Given the description of an element on the screen output the (x, y) to click on. 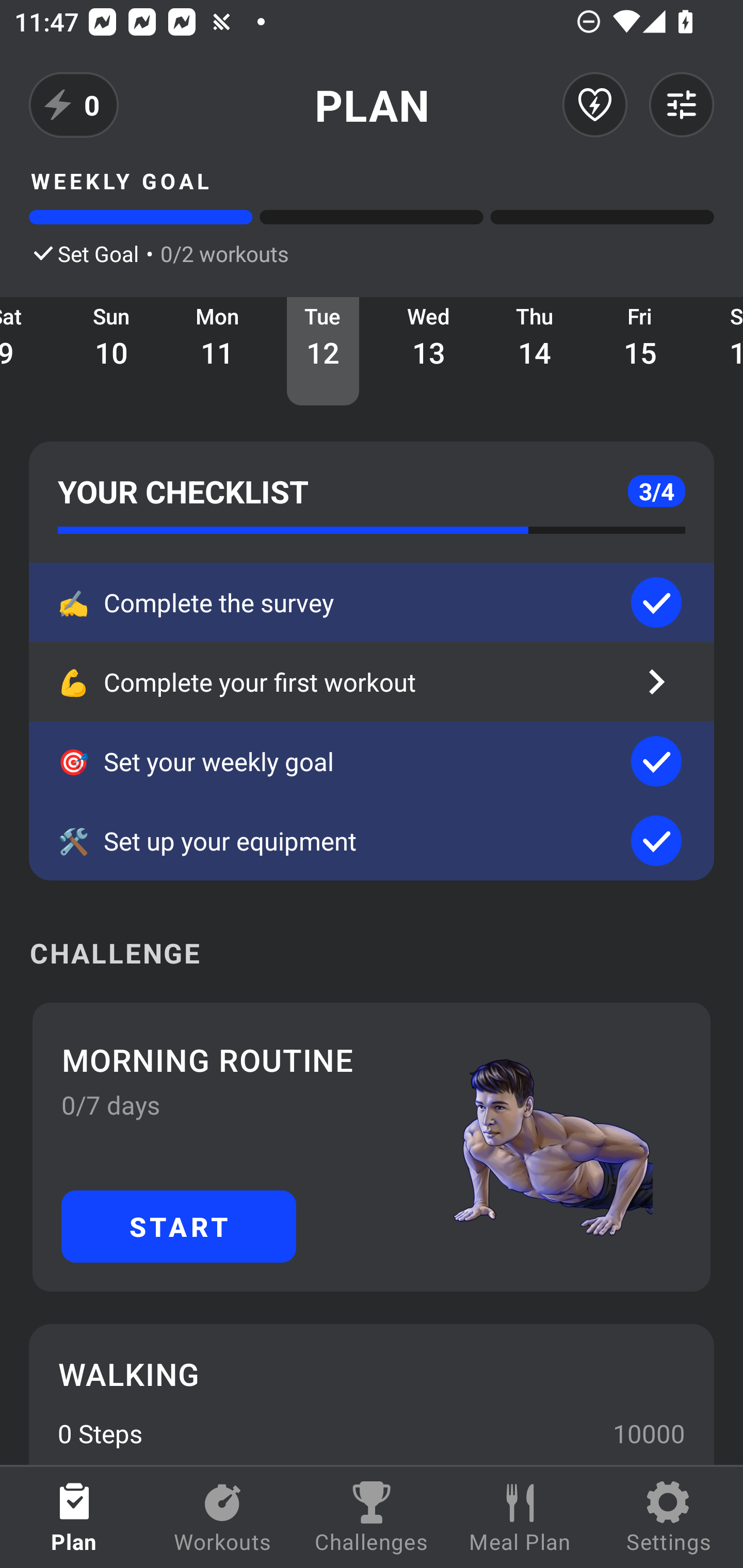
0 (73, 104)
Sun 10 (111, 351)
Mon 11 (217, 351)
Tue 12 (322, 351)
Wed 13 (428, 351)
Thu 14 (534, 351)
Fri 15 (640, 351)
💪 Complete your first workout (371, 681)
MORNING ROUTINE 0/7 days START (371, 1146)
START (178, 1226)
WALKING 0 Steps 10000 (371, 1393)
 Workouts  (222, 1517)
 Challenges  (371, 1517)
 Meal Plan  (519, 1517)
 Settings  (668, 1517)
